Given the description of an element on the screen output the (x, y) to click on. 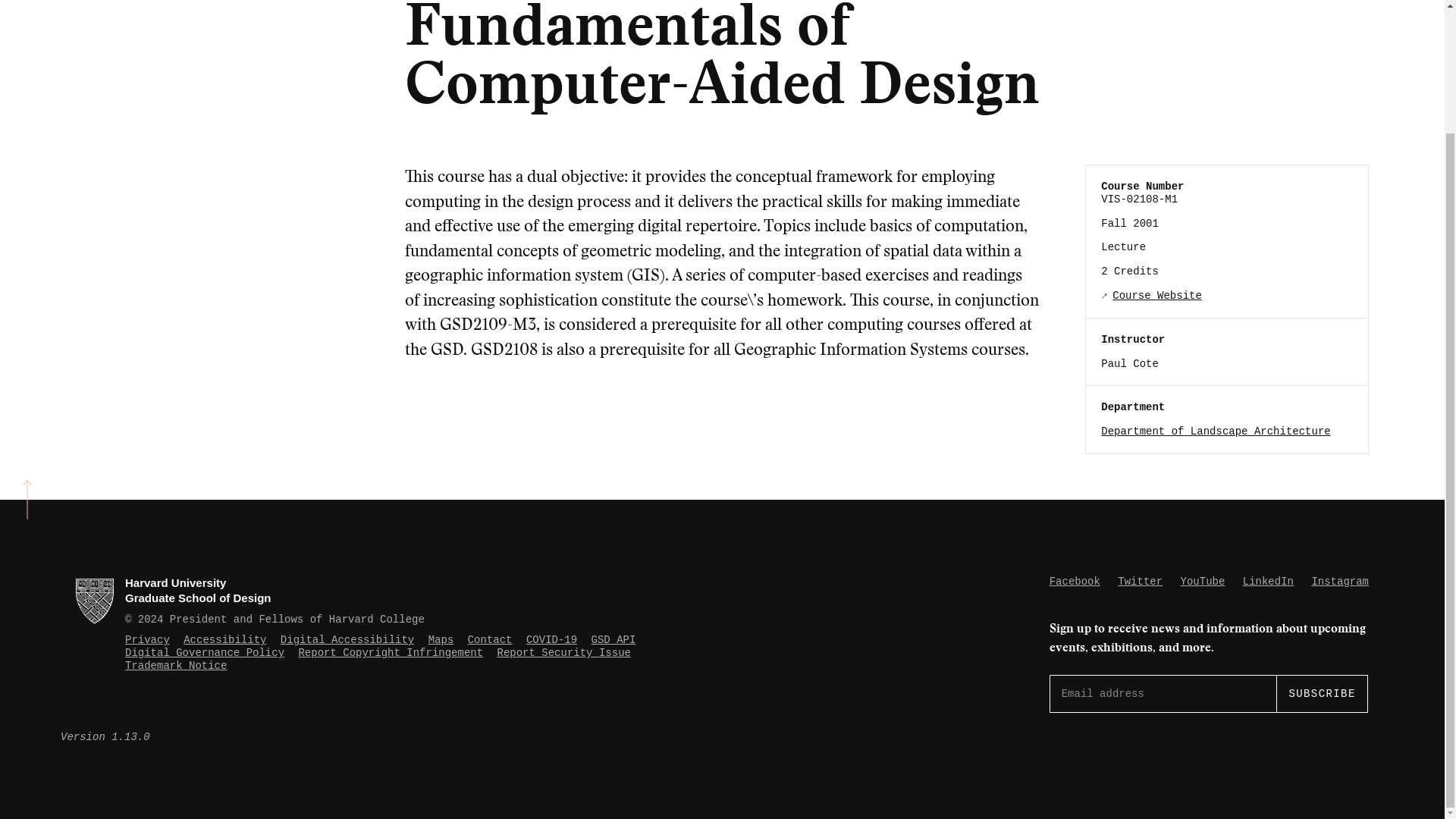
Subscribe (1321, 693)
